Given the description of an element on the screen output the (x, y) to click on. 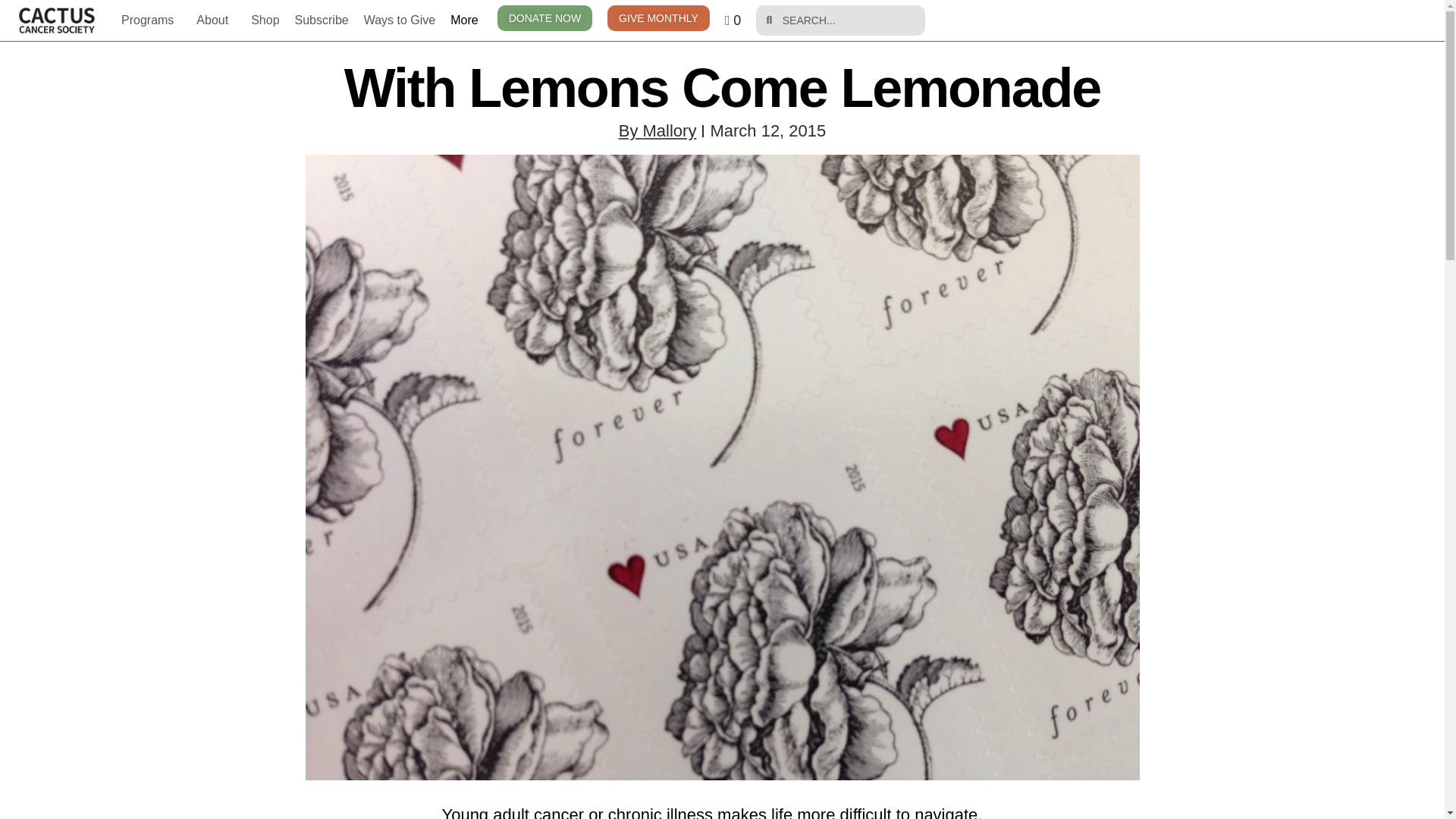
More (467, 20)
Subscribe (321, 20)
DONATE NOW (544, 17)
About (216, 20)
GIVE MONTHLY (658, 17)
Shop (264, 20)
Programs (151, 20)
Ways to Give (400, 20)
